Given the description of an element on the screen output the (x, y) to click on. 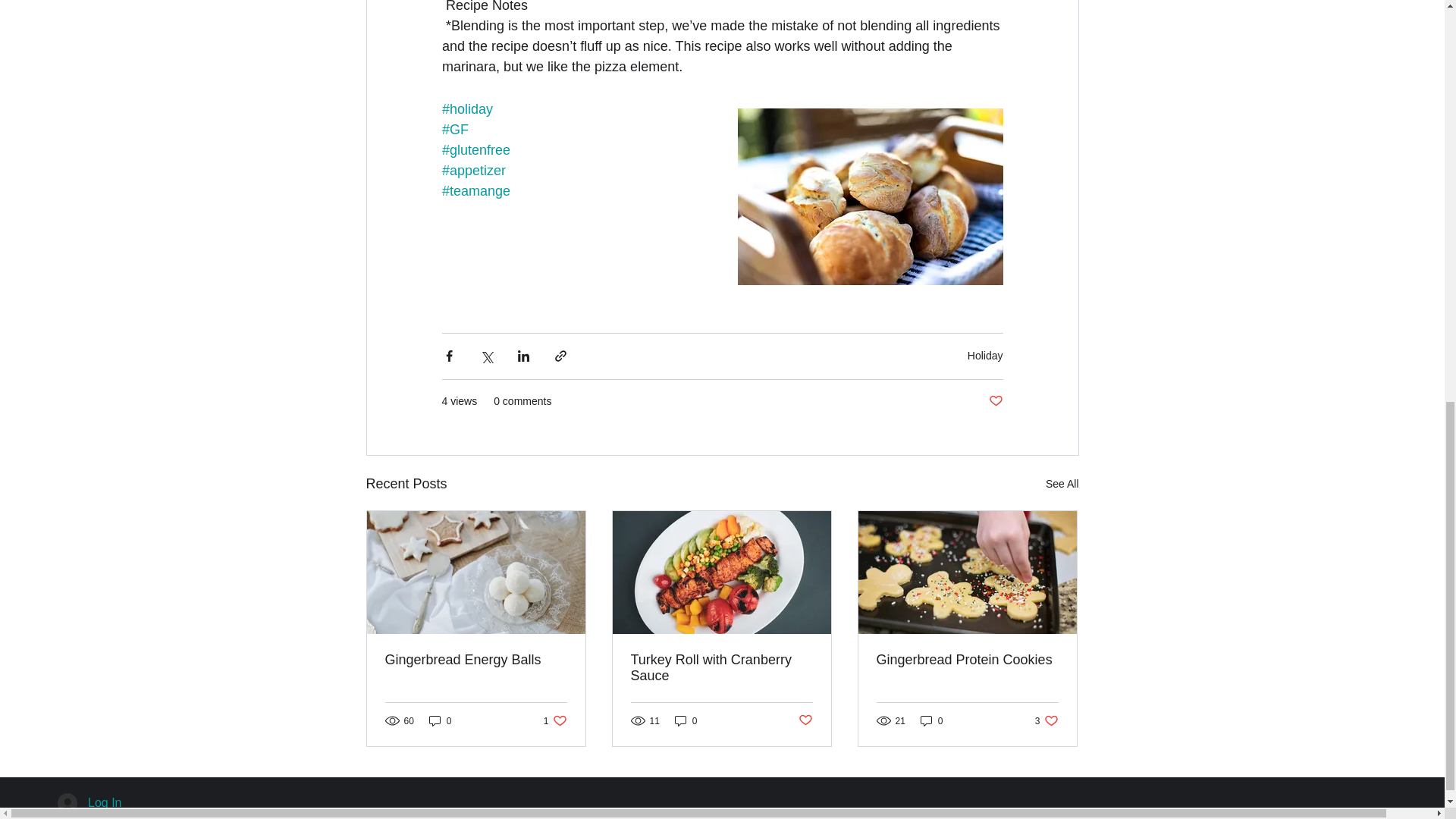
See All (1061, 484)
Post not marked as liked (995, 401)
Gingerbread Energy Balls (476, 659)
Holiday (985, 355)
0 (440, 720)
Turkey Roll with Cranberry Sauce (555, 720)
